Given the description of an element on the screen output the (x, y) to click on. 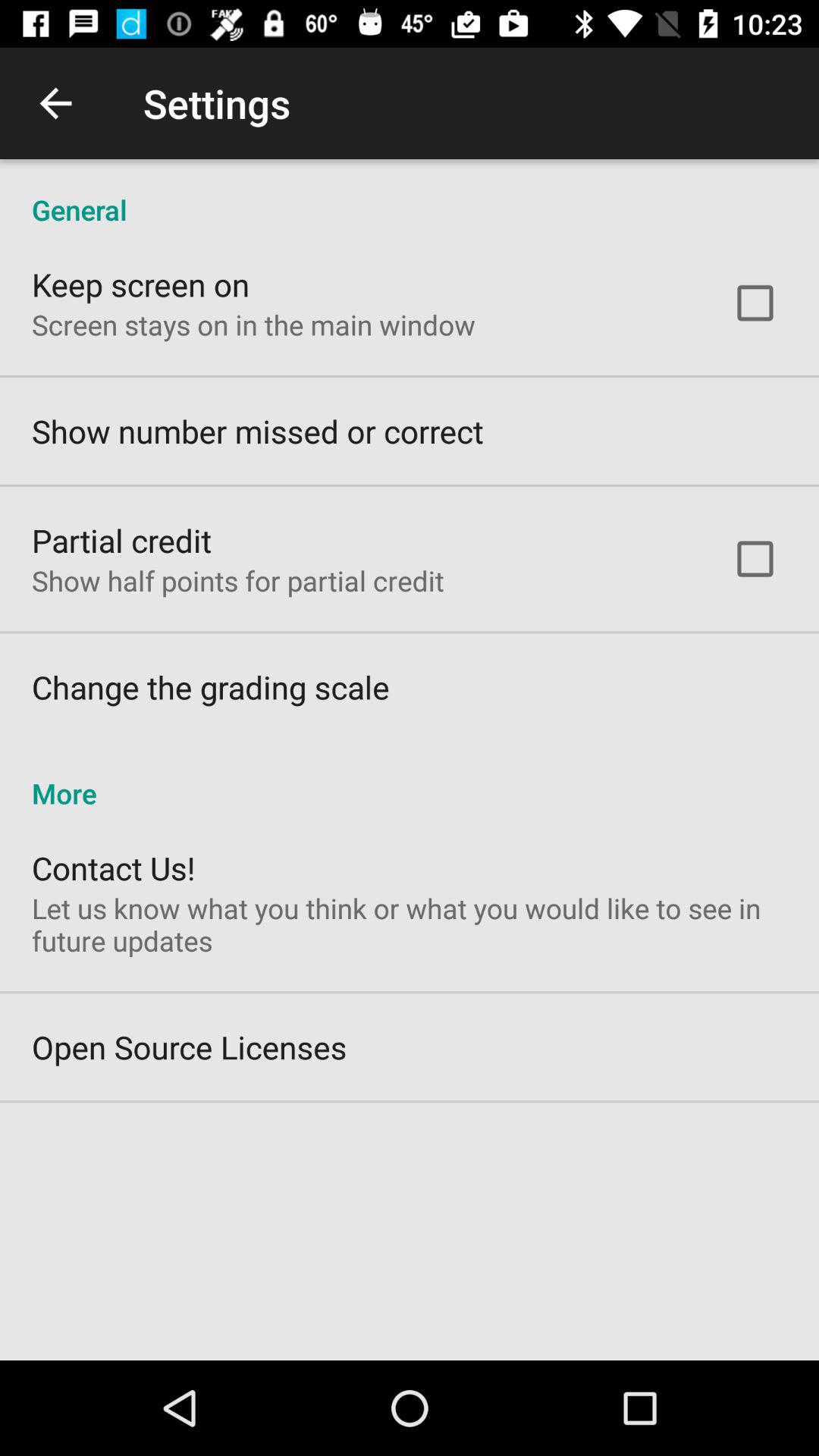
press the icon below let us know icon (188, 1046)
